Given the description of an element on the screen output the (x, y) to click on. 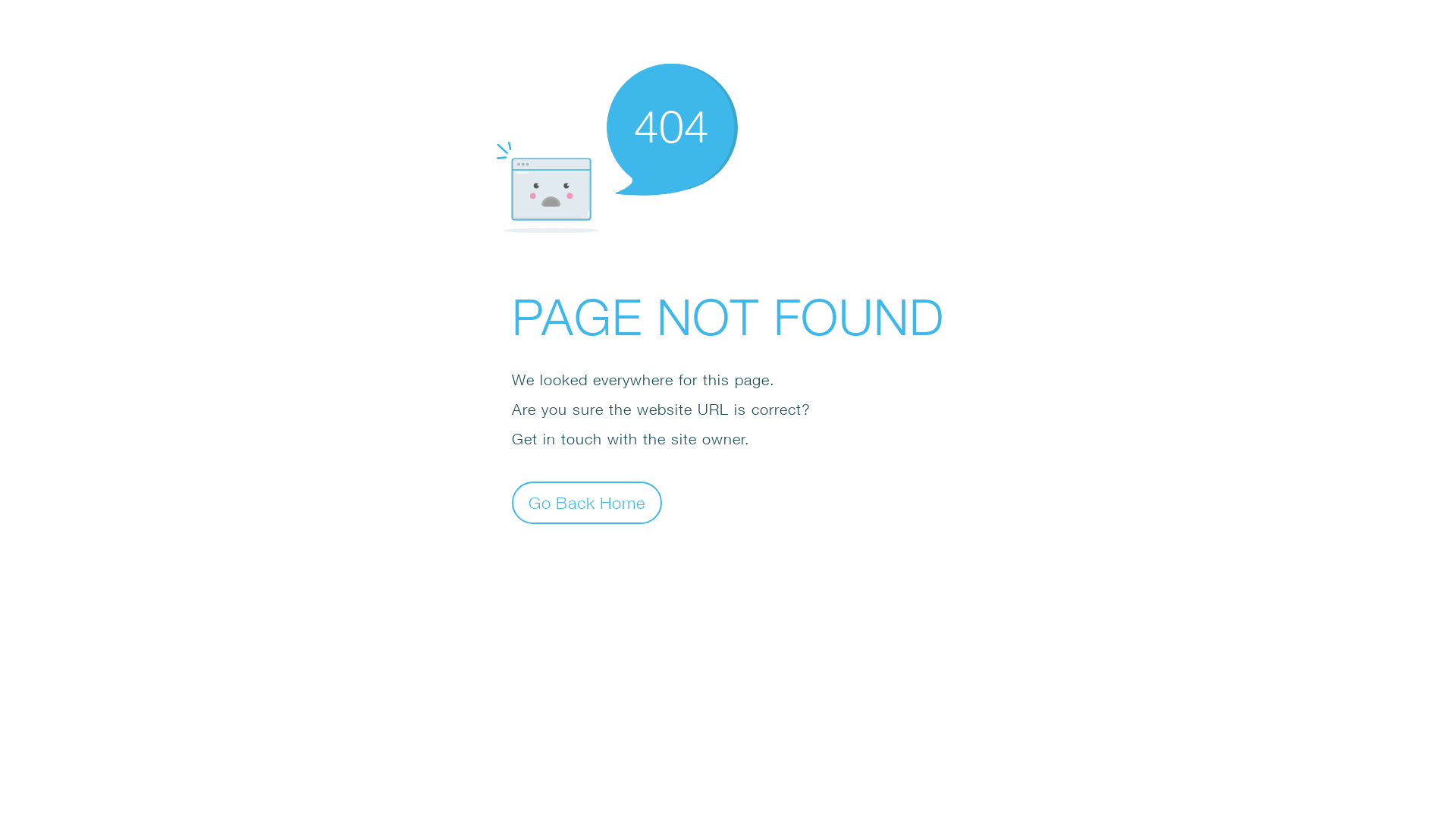
Go Back Home Element type: text (586, 502)
